Given the description of an element on the screen output the (x, y) to click on. 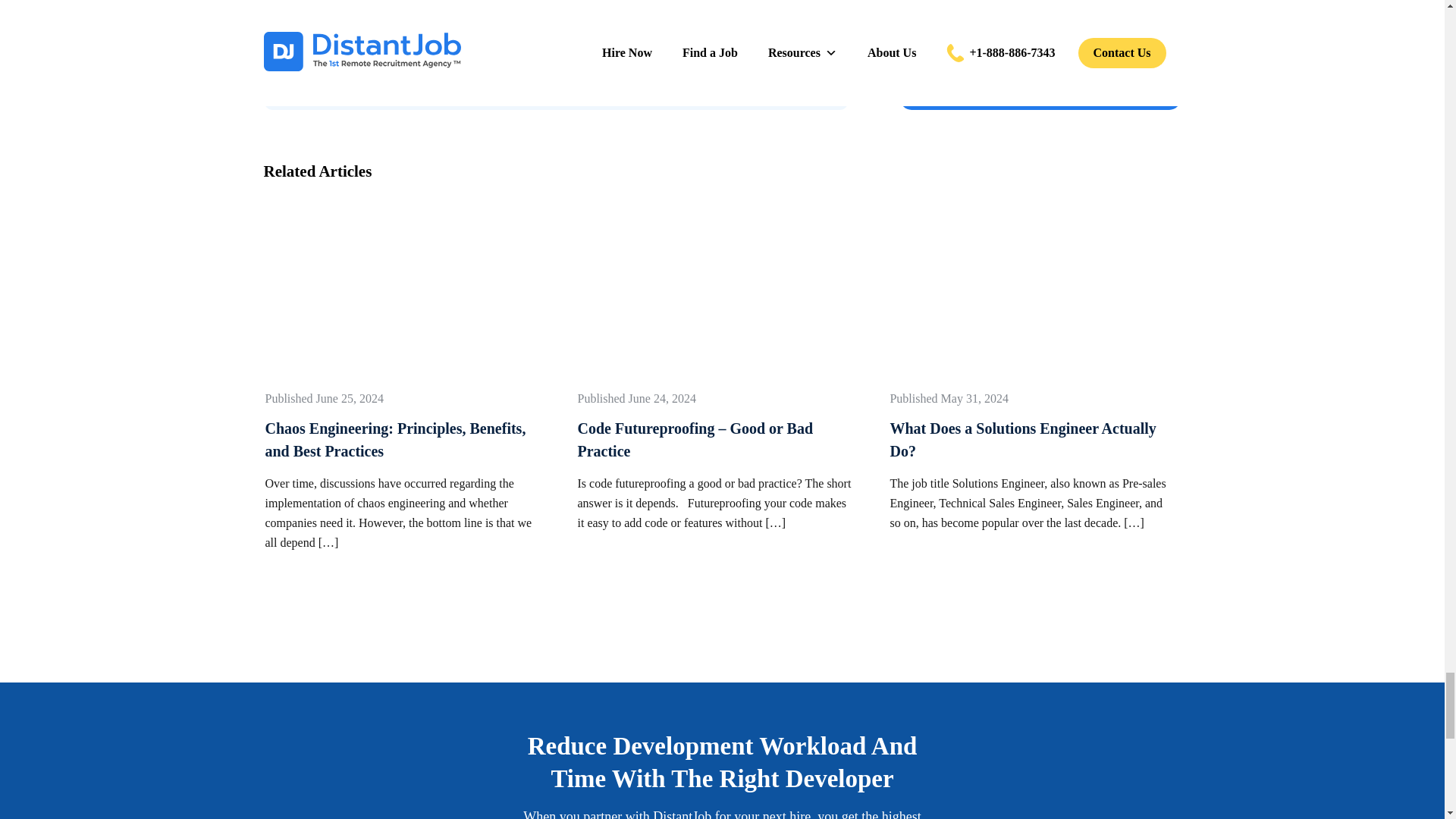
Subscribe (670, 5)
